Given the description of an element on the screen output the (x, y) to click on. 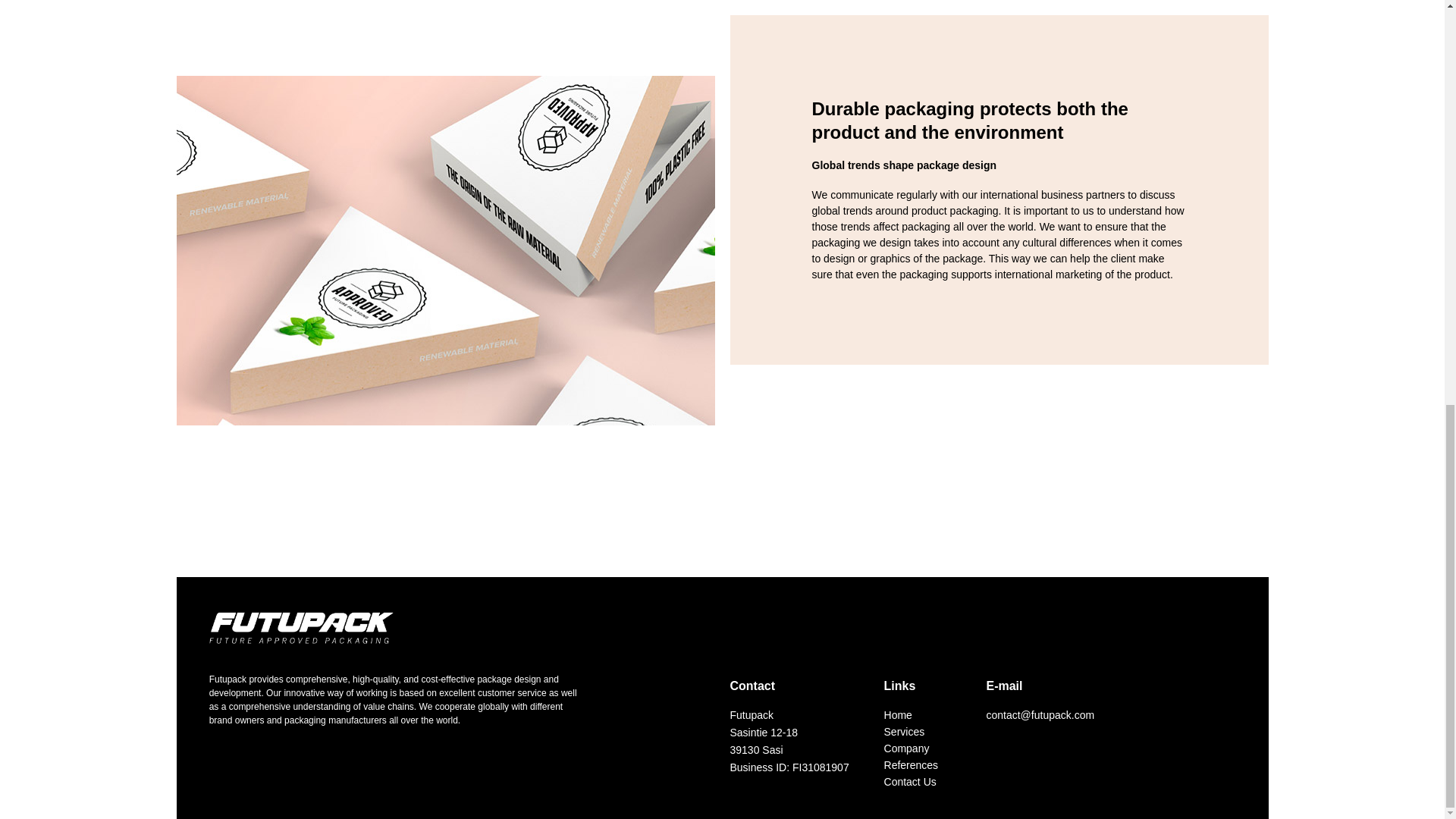
Services (927, 731)
References (927, 765)
Read more about us (304, 0)
Contact Us (927, 781)
Company (927, 748)
Home (927, 714)
